Given the description of an element on the screen output the (x, y) to click on. 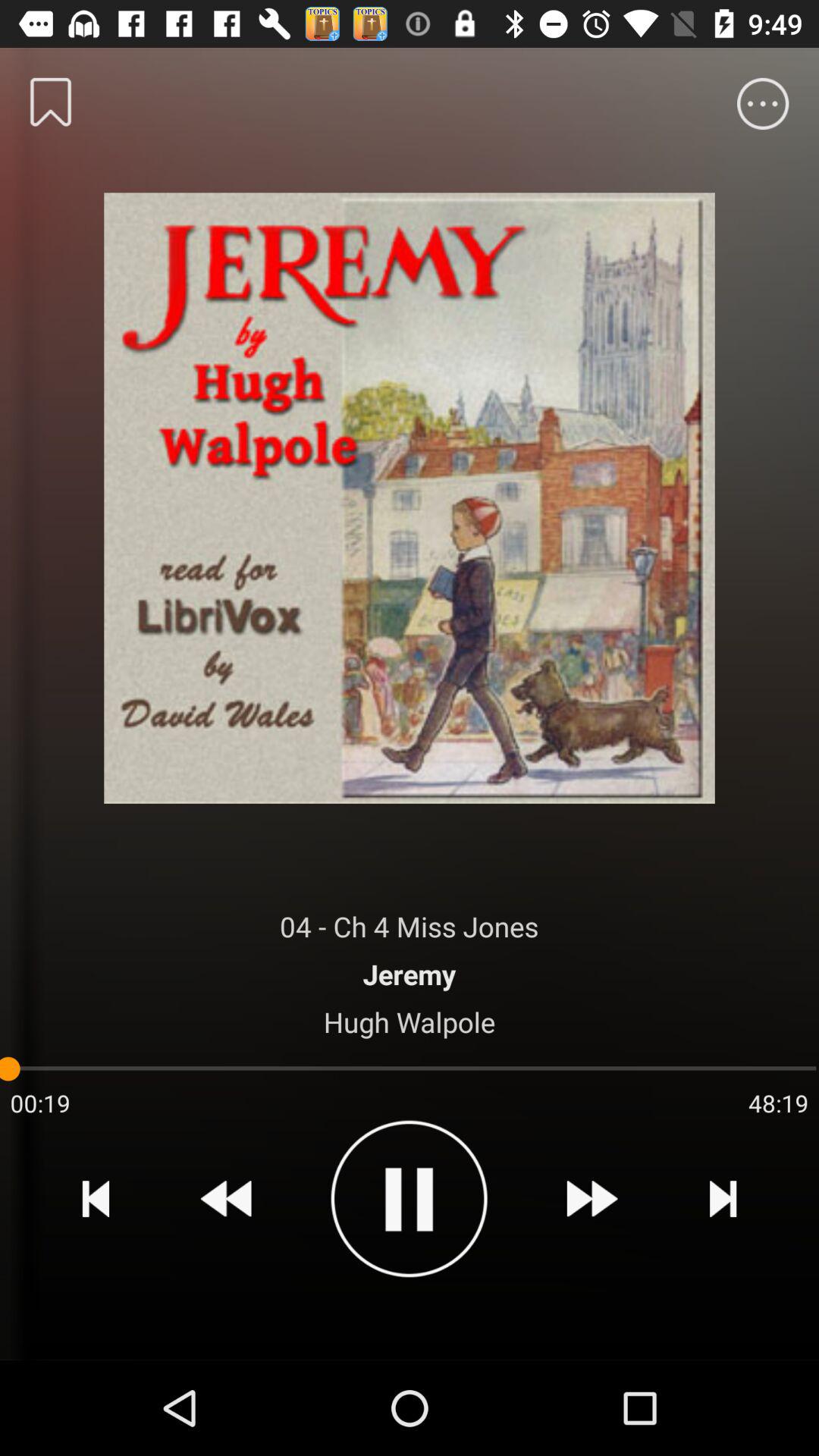
click item above the hugh walpole (409, 974)
